Given the description of an element on the screen output the (x, y) to click on. 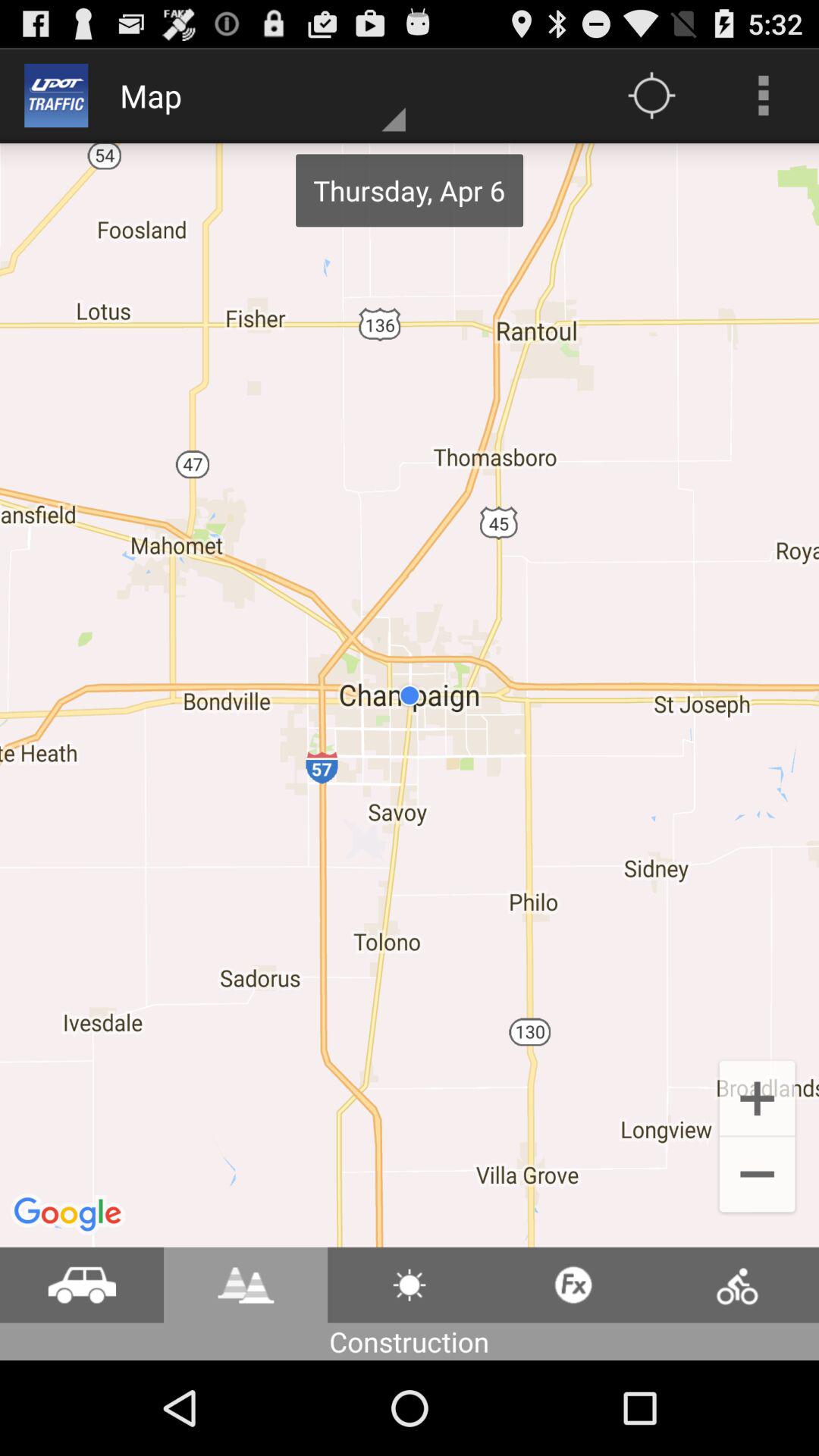
settings button (409, 1284)
